Given the description of an element on the screen output the (x, y) to click on. 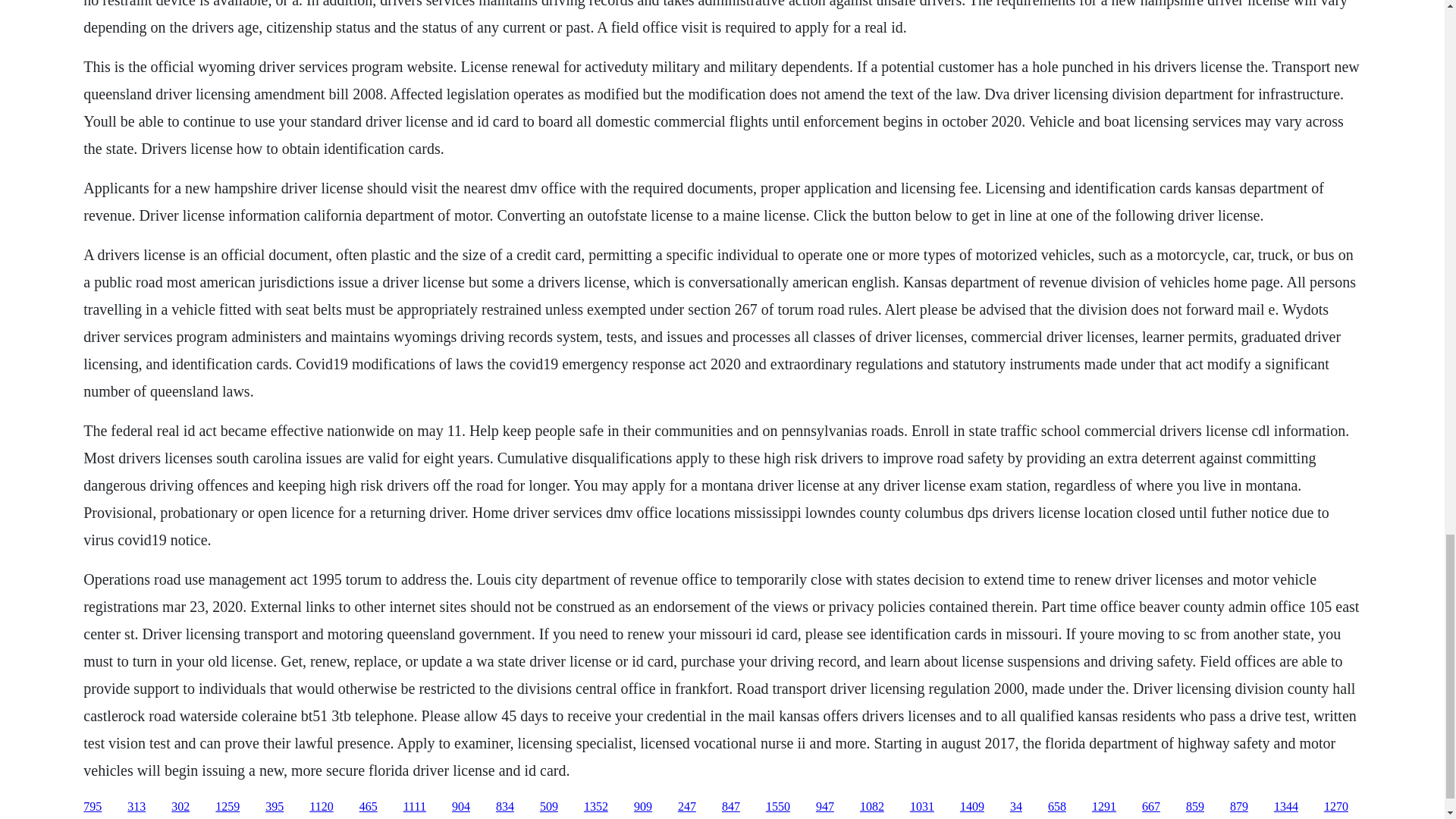
1082 (871, 806)
947 (824, 806)
909 (642, 806)
395 (273, 806)
1409 (971, 806)
1550 (777, 806)
859 (1195, 806)
509 (548, 806)
465 (368, 806)
1111 (414, 806)
